Given the description of an element on the screen output the (x, y) to click on. 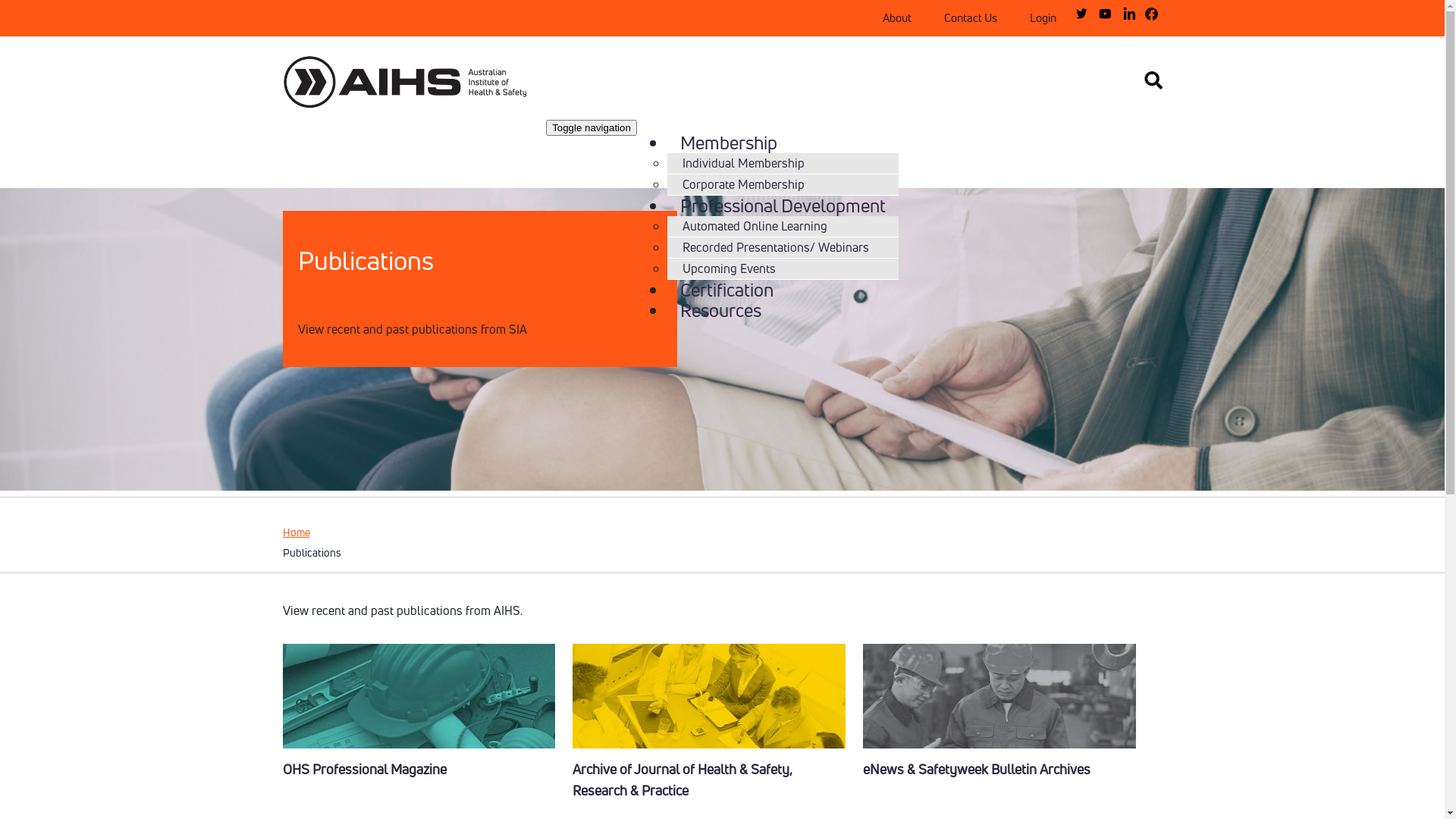
Toggle navigation Element type: text (591, 127)
eNews & Safetyweek Bulletin Archives Element type: text (976, 768)
Membership Element type: text (728, 142)
OHS Professional Magazine Element type: text (363, 768)
Resources Element type: text (720, 310)
Login Element type: text (1042, 17)
Recorded Presentations/ Webinars Element type: text (775, 247)
Archive of Journal of Health & Safety, Research & Practice Element type: text (682, 779)
Contact Us Element type: text (969, 17)
Home Element type: text (295, 531)
Certification Element type: text (726, 289)
Individual Membership Element type: text (743, 162)
Automated Online Learning Element type: text (754, 225)
Corporate Membership Element type: text (743, 184)
Upcoming Events Element type: text (728, 268)
Skip to main content Element type: text (54, 0)
Home Element type: hover (418, 84)
About Element type: text (896, 17)
Professional Development Element type: text (782, 205)
